Given the description of an element on the screen output the (x, y) to click on. 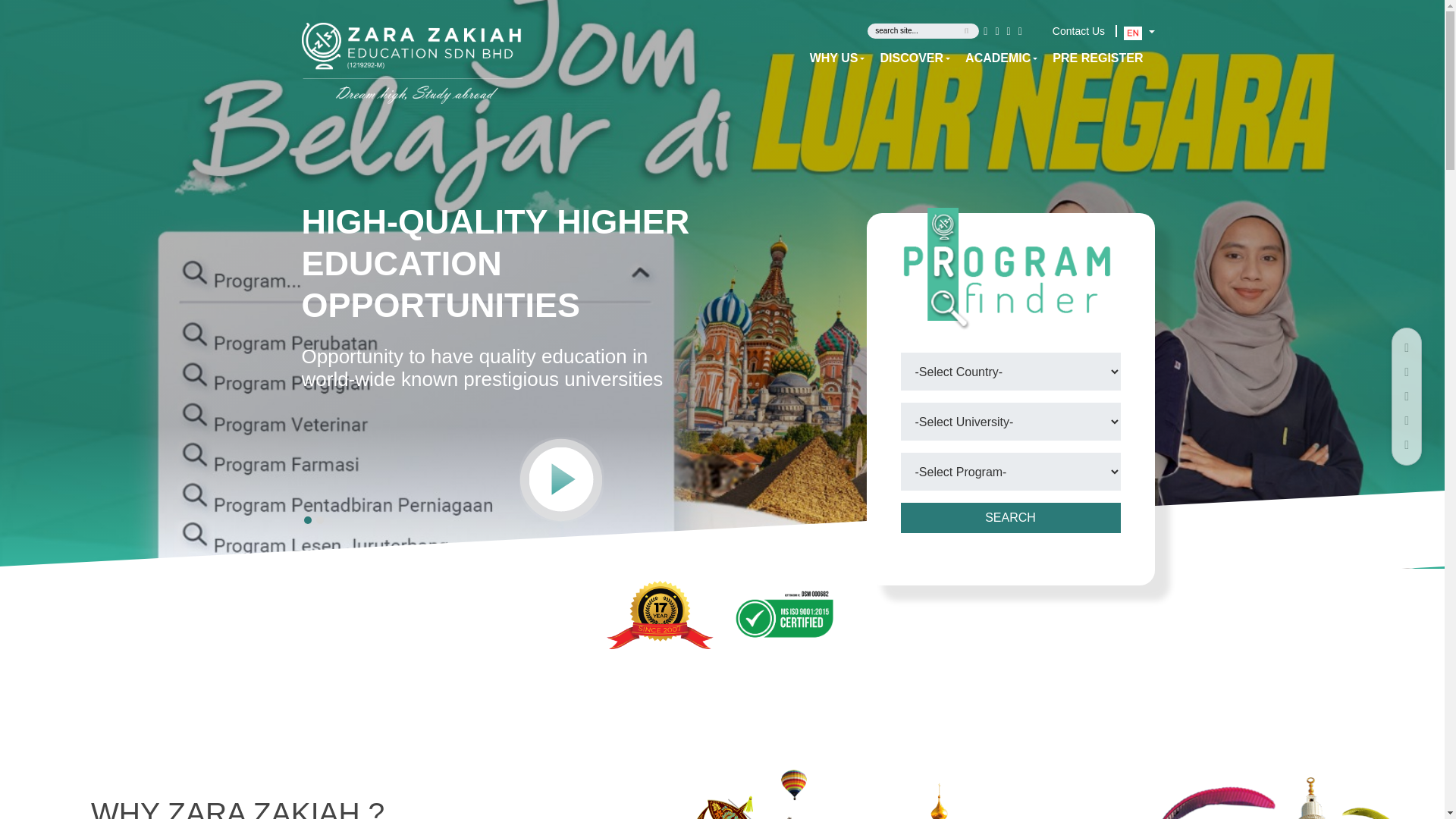
SEARCH (1010, 513)
facebookf (985, 30)
Contact Us (1078, 30)
ACADEMIC (993, 57)
DISCOVER (907, 57)
Contact (1078, 30)
YouTube (1020, 30)
PRE REGISTER (1089, 57)
Twitter (997, 30)
Instagram (1008, 30)
SEARCH (1010, 527)
PRE REGISTER (1089, 57)
Tiktok (1029, 30)
